Given the description of an element on the screen output the (x, y) to click on. 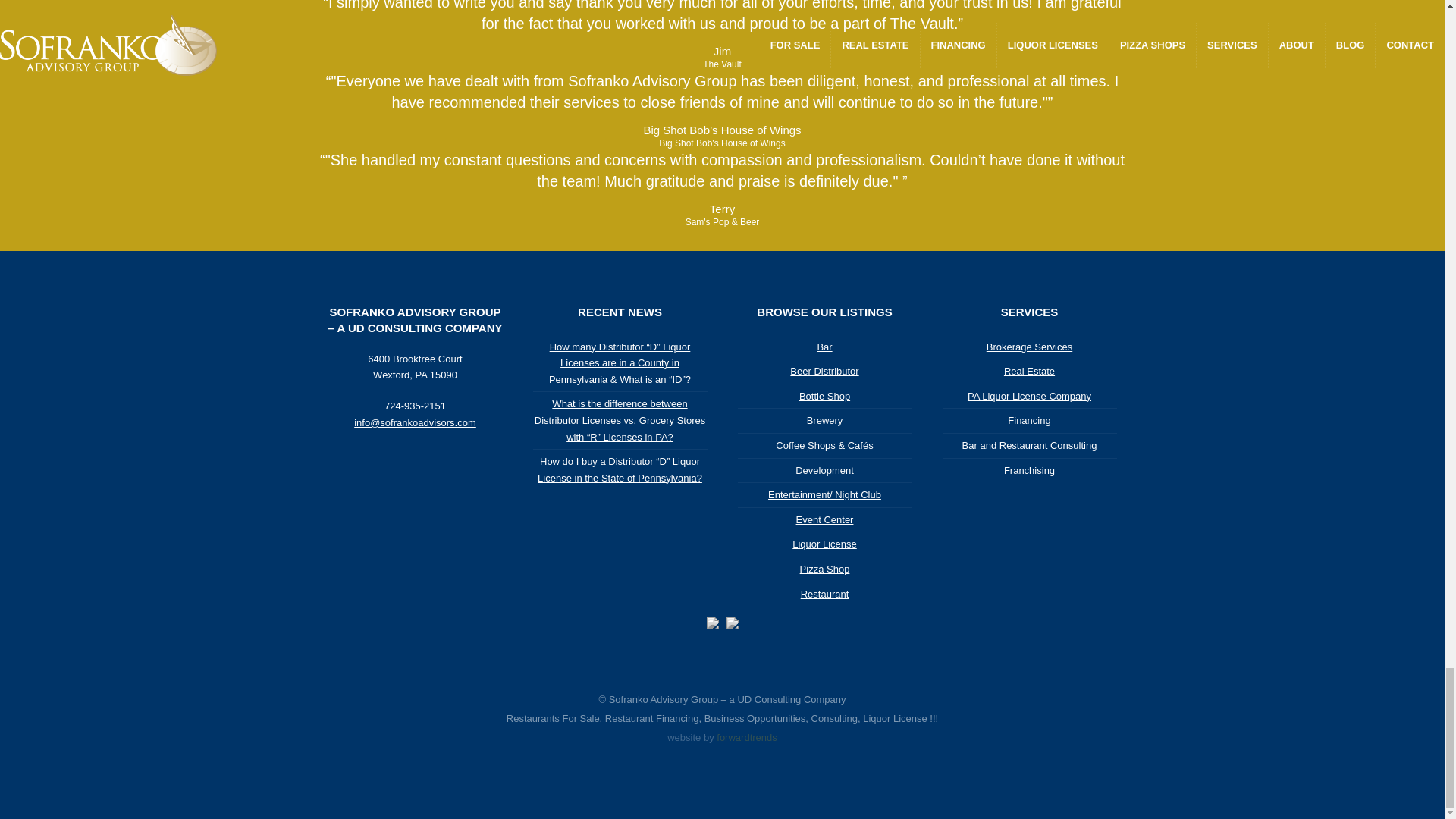
BizBuySell (732, 623)
PA Liquor License Company (712, 623)
